Given the description of an element on the screen output the (x, y) to click on. 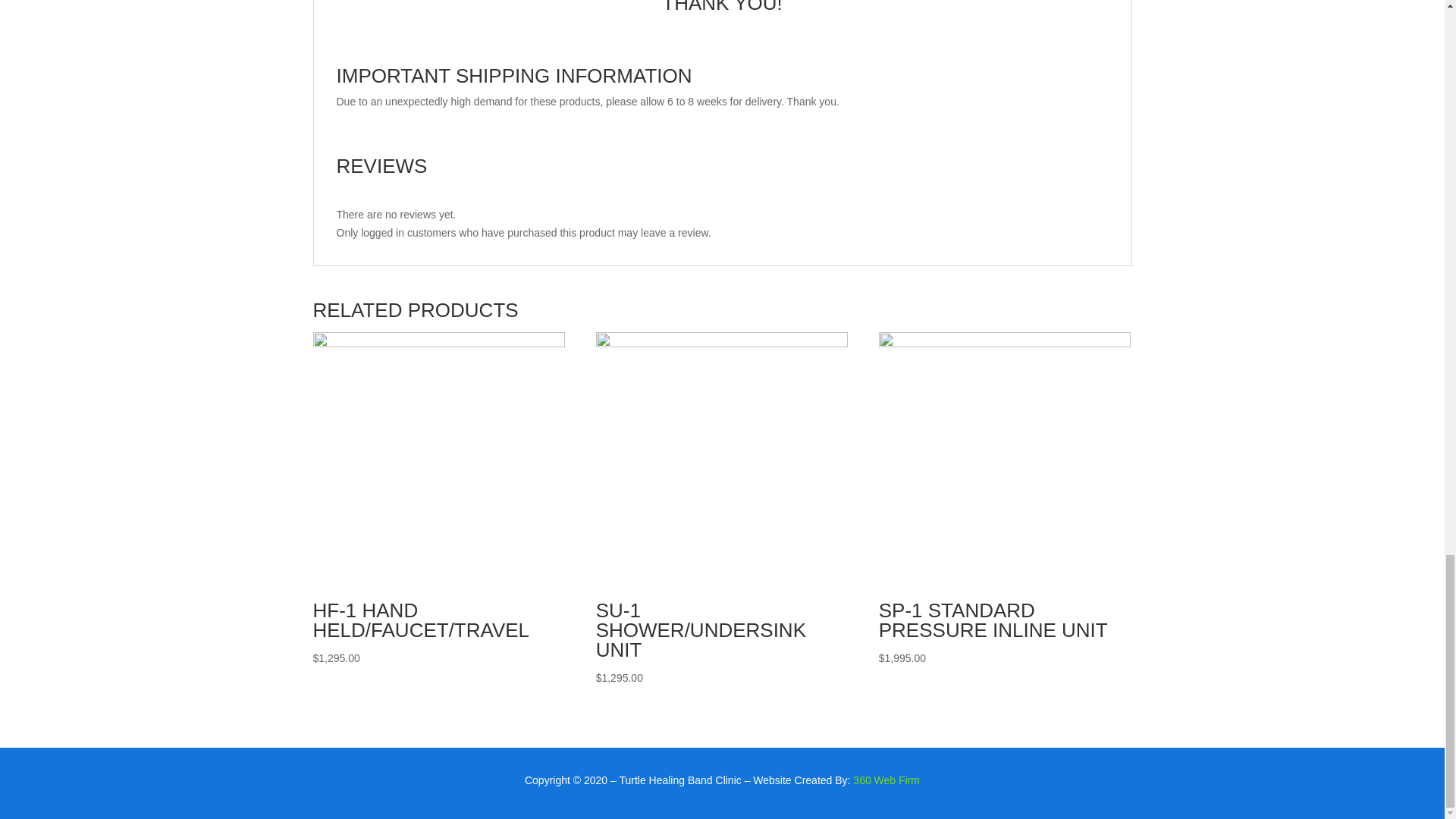
360 Web Firm (886, 779)
360 Web Firm (886, 779)
